Given the description of an element on the screen output the (x, y) to click on. 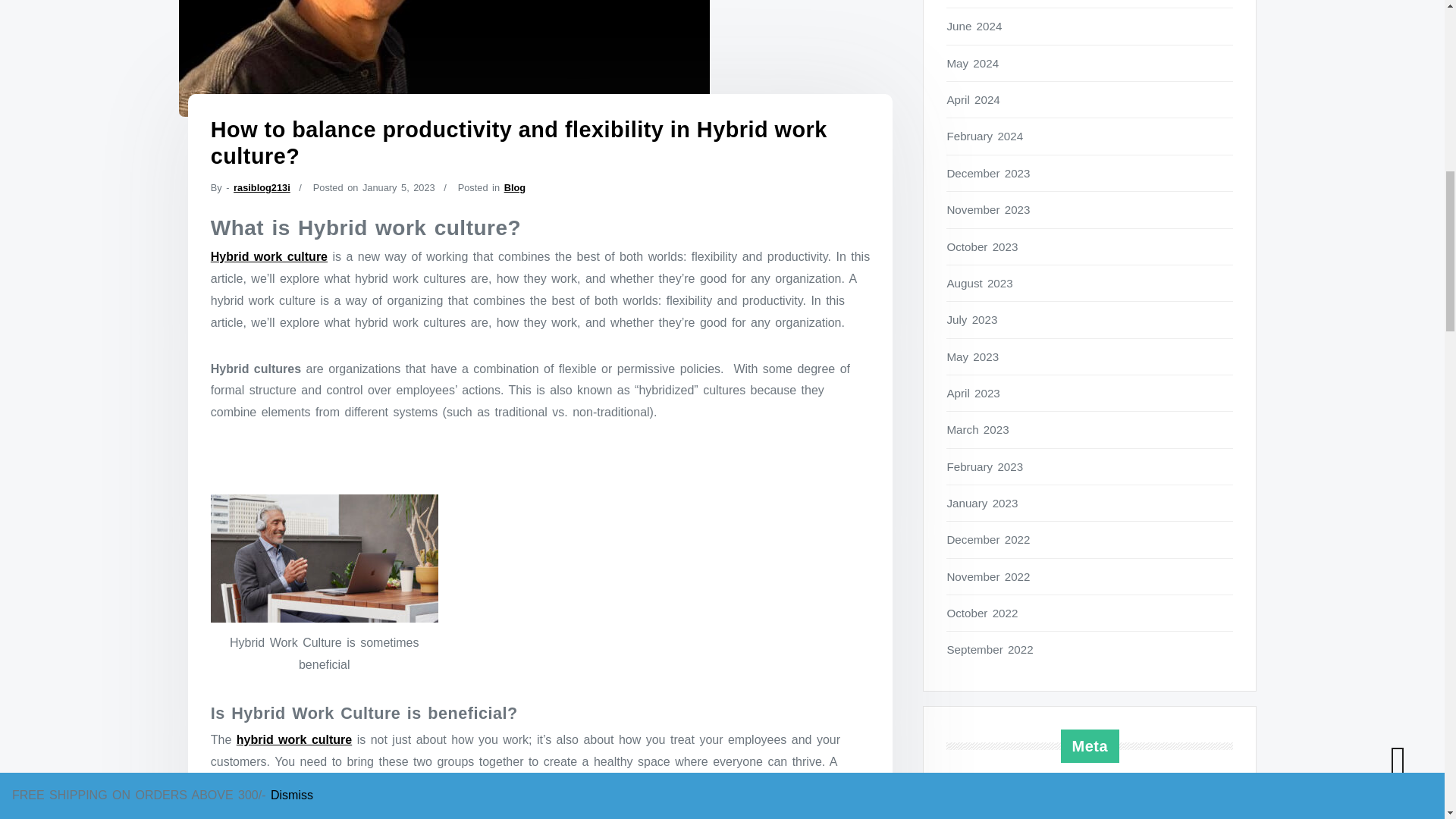
Blog (514, 187)
rasiblog213i (260, 187)
Hybrid work culture (269, 256)
hybrid work culture (293, 739)
